Given the description of an element on the screen output the (x, y) to click on. 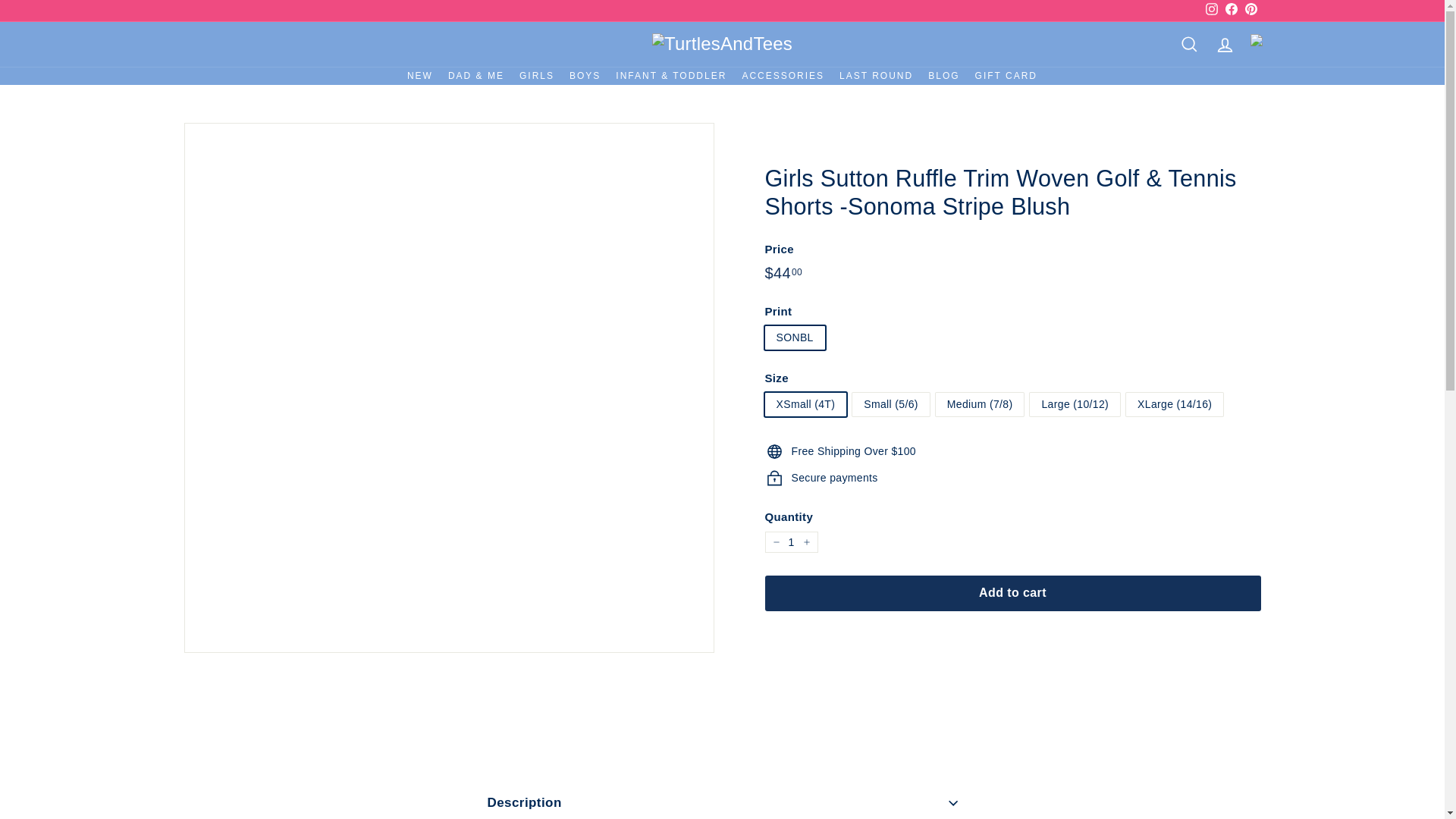
Instagram (1211, 10)
TurtlesAndTees on Pinterest (1250, 10)
Facebook (1230, 10)
GIRLS (537, 75)
TurtlesAndTees on Instagram (1211, 10)
BOYS (585, 75)
1 (790, 542)
Pinterest (1250, 10)
NEW (419, 75)
TurtlesAndTees on Facebook (1230, 10)
